Given the description of an element on the screen output the (x, y) to click on. 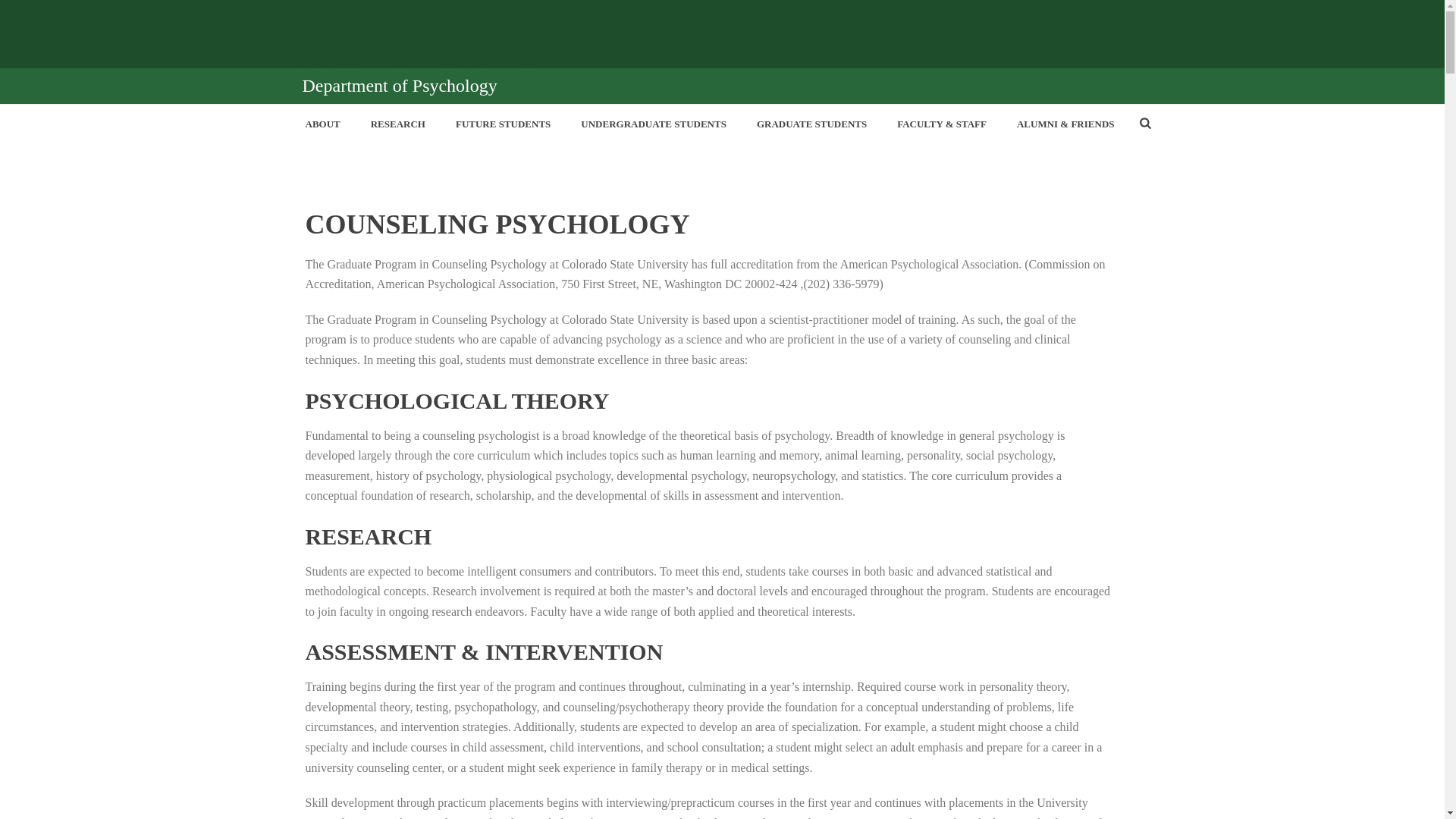
RESEARCH (398, 124)
UNDERGRADUATE STUDENTS (653, 124)
GRADUATE STUDENTS (811, 124)
FUTURE STUDENTS (503, 124)
College of Natural Sciences (724, 70)
Department of Psychology (398, 85)
RESEARCH (398, 124)
FUTURE STUDENTS (503, 124)
GRADUATE STUDENTS (811, 124)
ABOUT (322, 124)
